Given the description of an element on the screen output the (x, y) to click on. 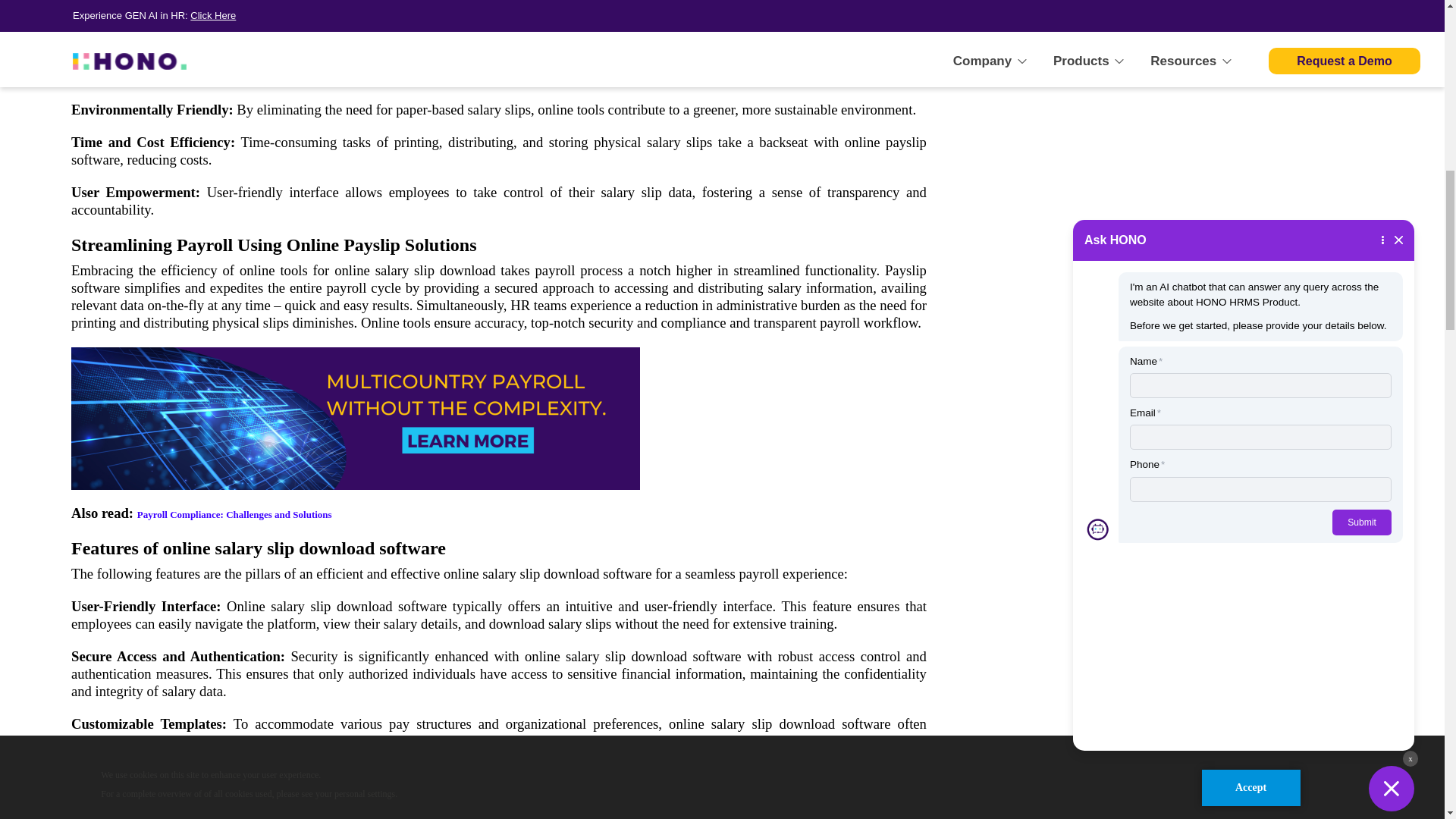
Payroll Compliance: Challenges and Solutions (233, 514)
